Given the description of an element on the screen output the (x, y) to click on. 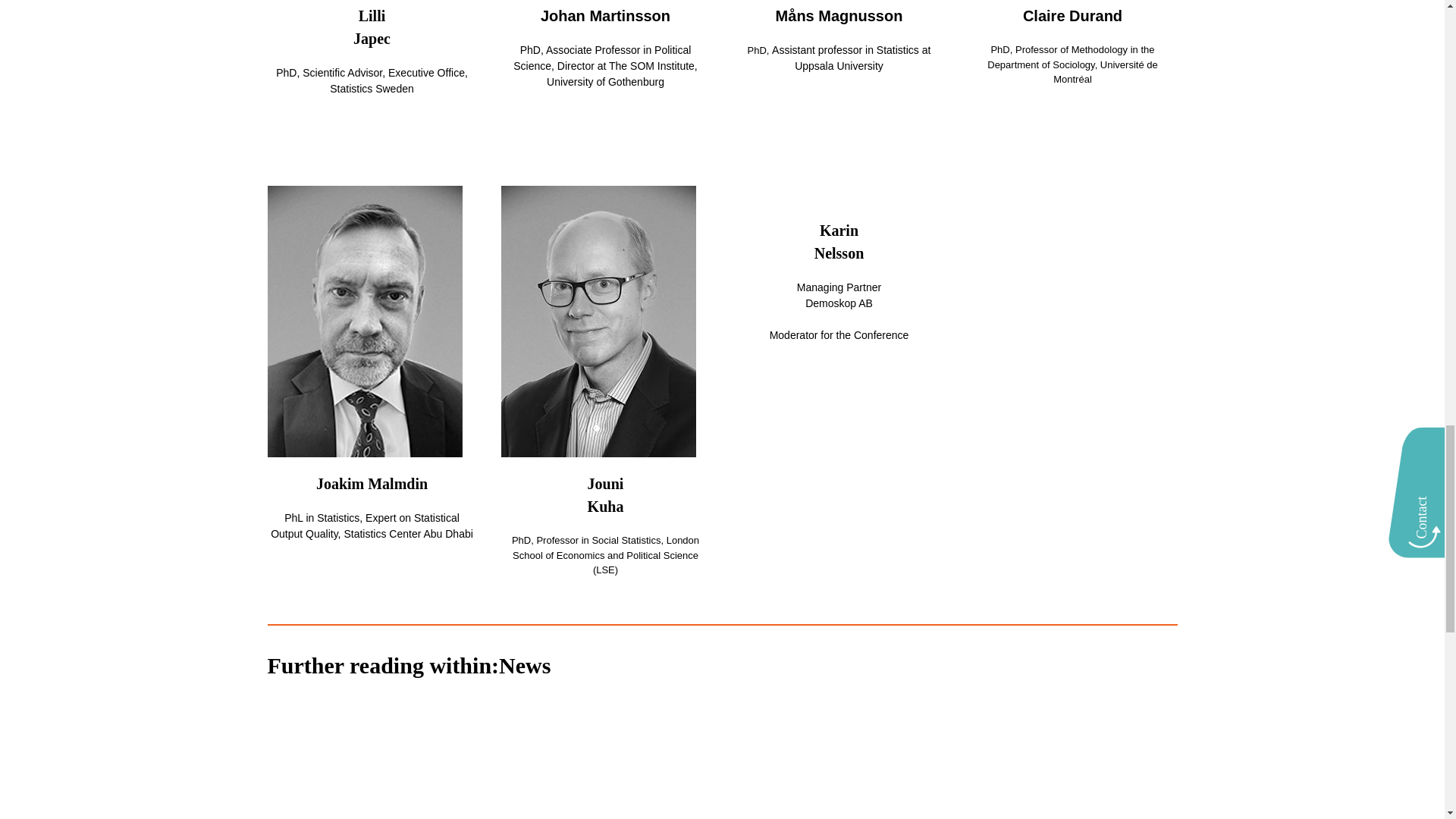
Permanent Link to Demoskop becomes a member of WIN (721, 762)
